Given the description of an element on the screen output the (x, y) to click on. 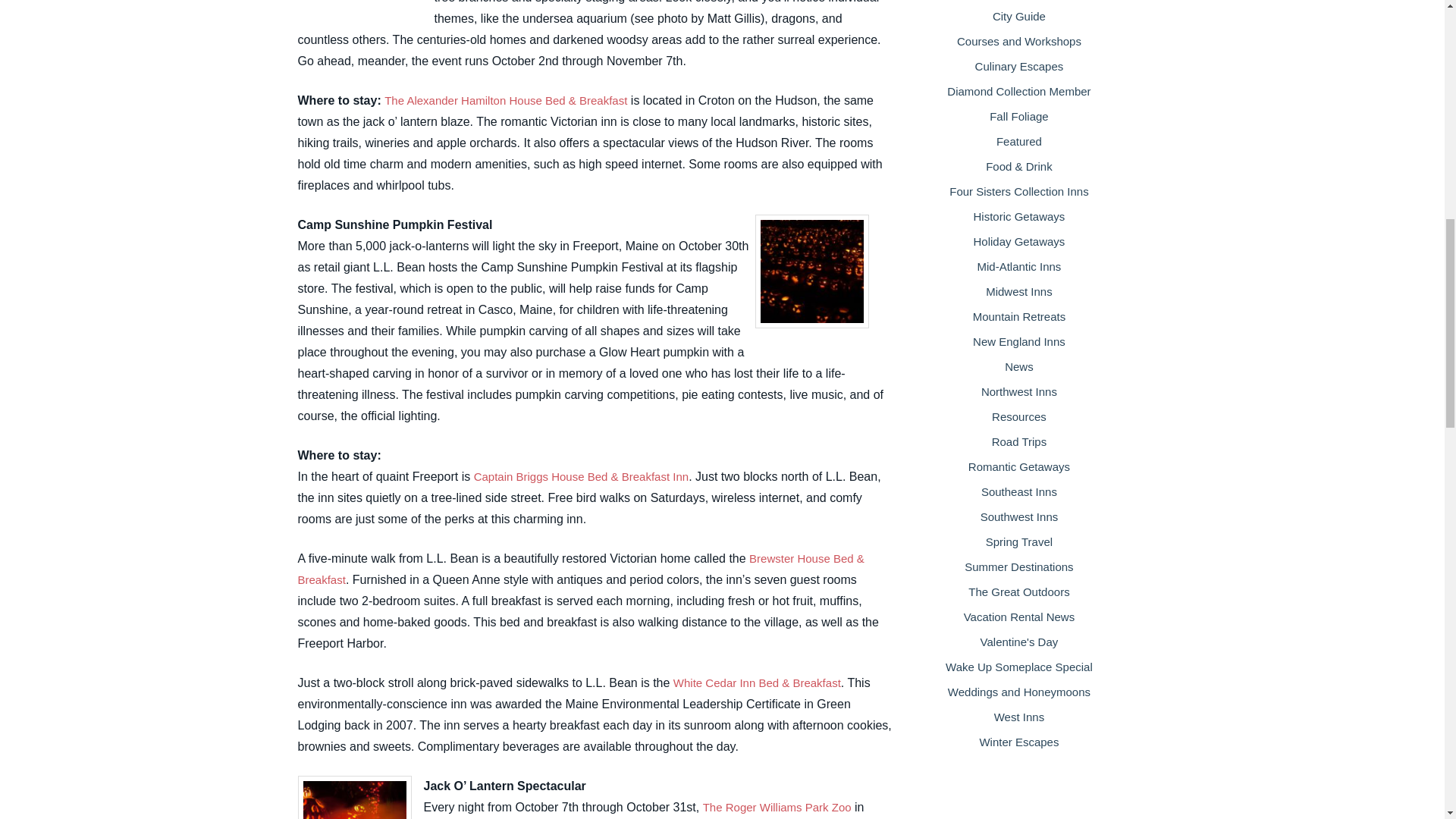
City Guide (1018, 15)
Courses and Workshops (1018, 41)
providencezoo (353, 797)
The Roger Williams Park Zoo (777, 807)
campsunshineblaze (812, 271)
